Given the description of an element on the screen output the (x, y) to click on. 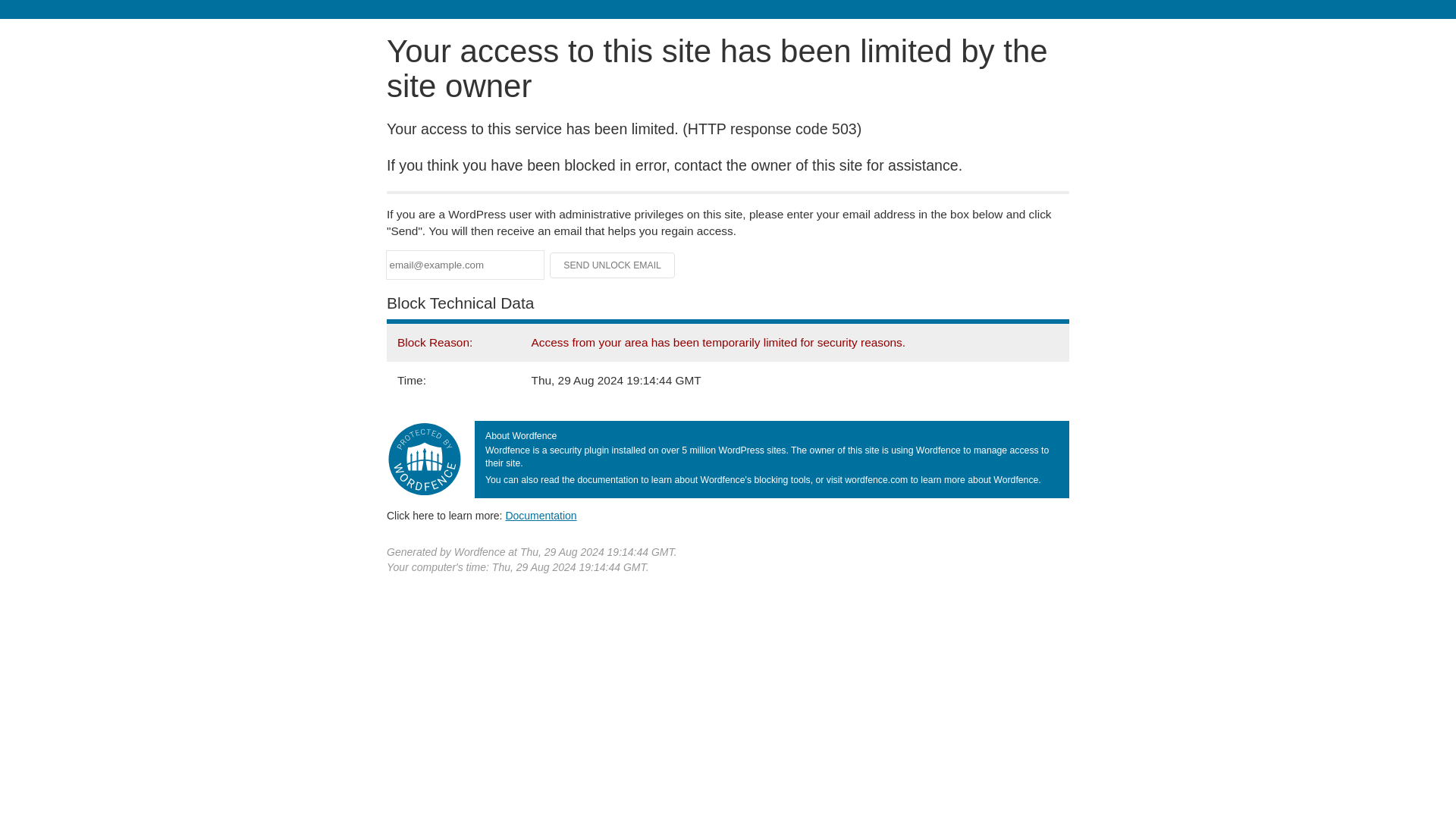
Send Unlock Email (612, 265)
Send Unlock Email (612, 265)
Documentation (540, 515)
